Given the description of an element on the screen output the (x, y) to click on. 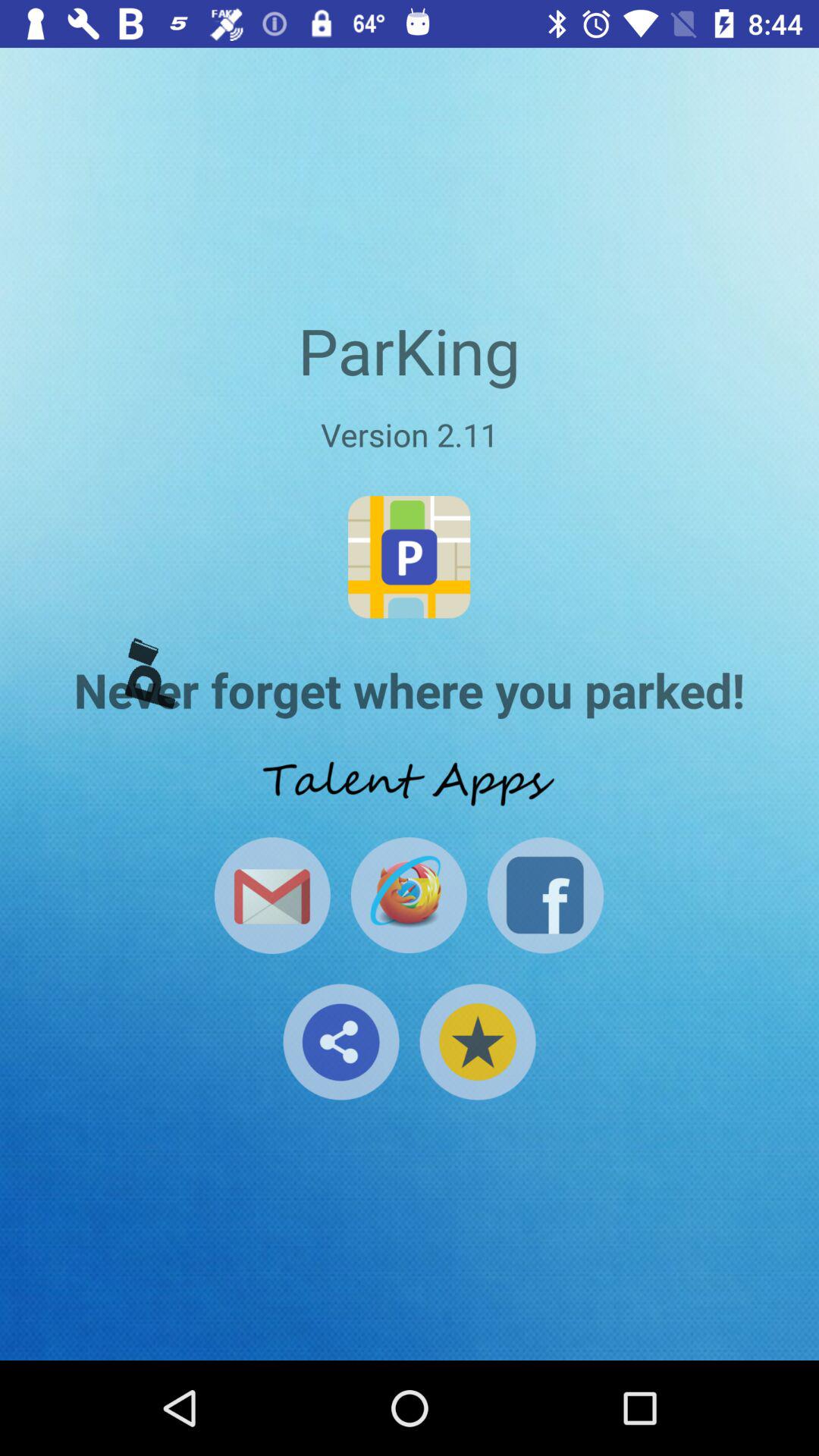
facebook button (545, 895)
